Given the description of an element on the screen output the (x, y) to click on. 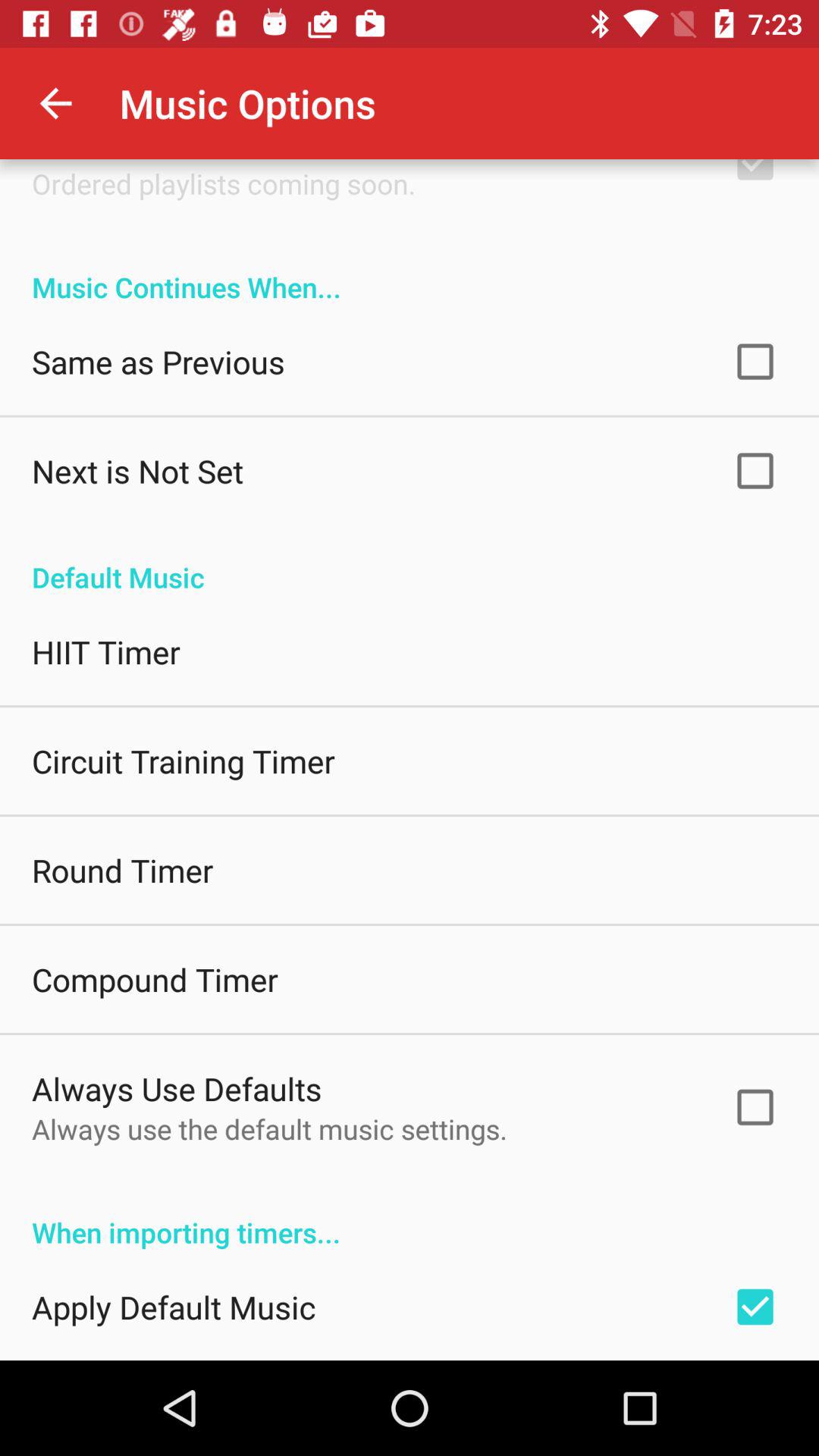
press compound timer item (154, 979)
